Given the description of an element on the screen output the (x, y) to click on. 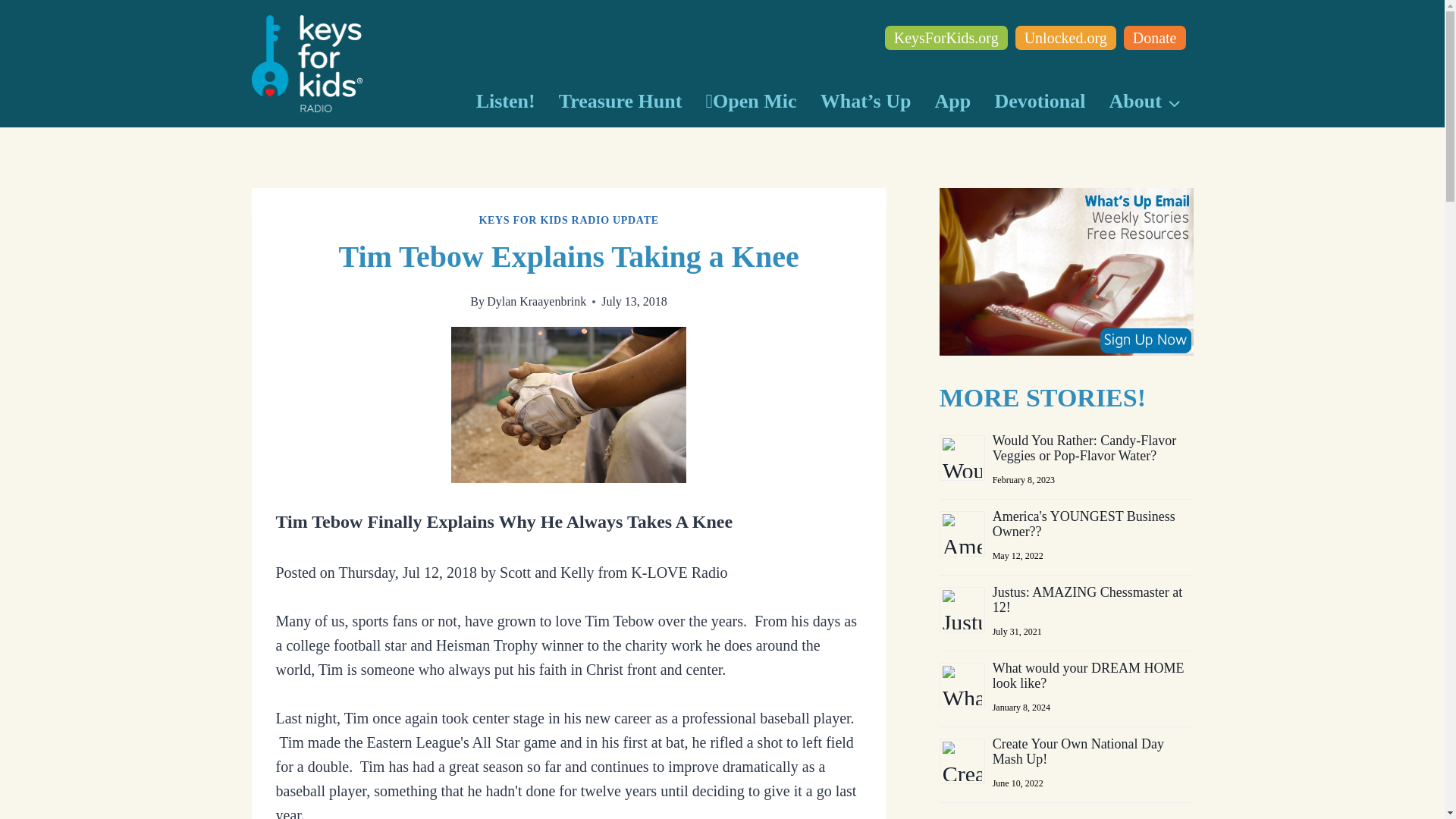
KEYS FOR KIDS RADIO UPDATE (568, 220)
Listen! (505, 101)
Unlocked.org (1065, 37)
App (952, 101)
Treasure Hunt (620, 101)
Dylan Kraayenbrink (536, 300)
About (1145, 101)
Donate (1155, 37)
KeysForKids.org (946, 37)
Devotional (1039, 101)
